Given the description of an element on the screen output the (x, y) to click on. 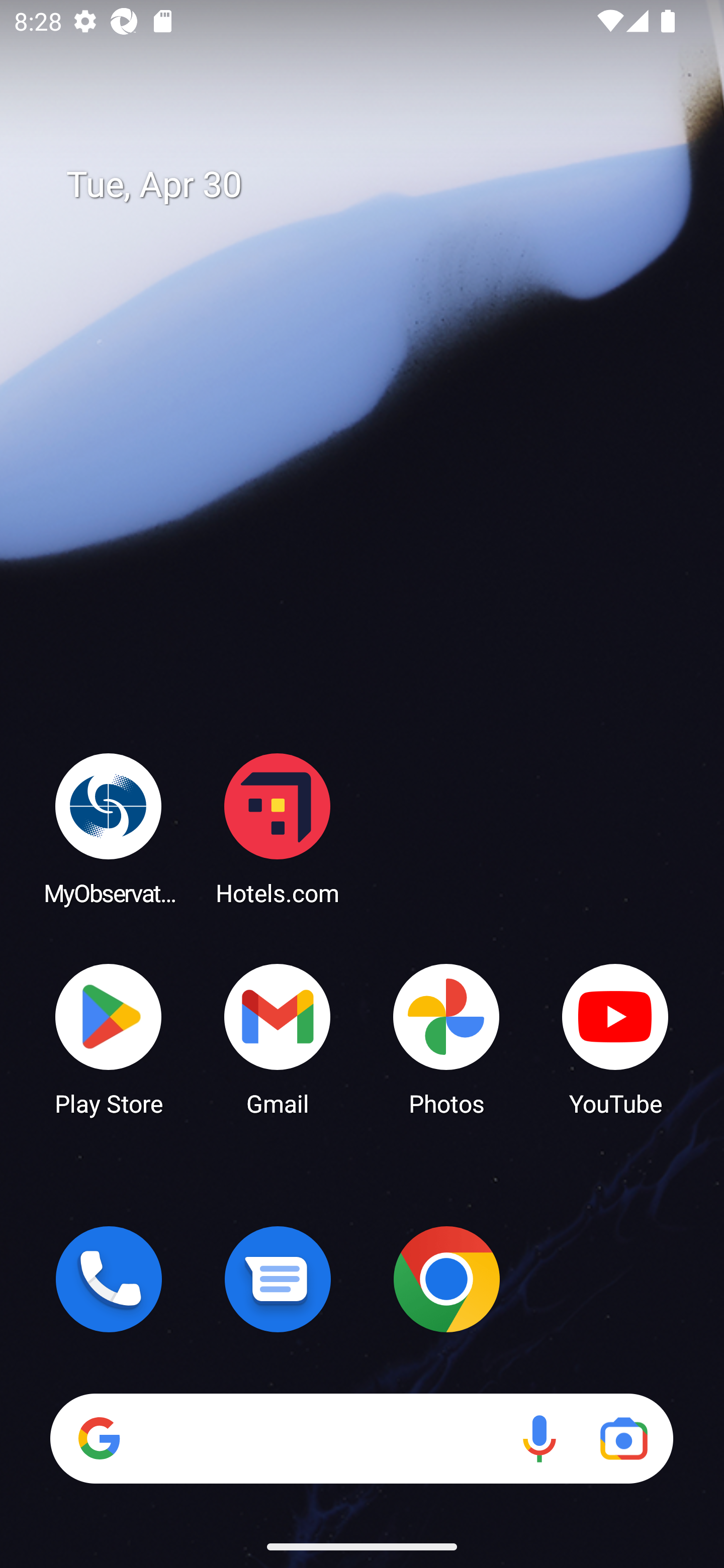
Tue, Apr 30 (375, 184)
MyObservatory (108, 828)
Hotels.com (277, 828)
Play Store (108, 1038)
Gmail (277, 1038)
Photos (445, 1038)
YouTube (615, 1038)
Phone (108, 1279)
Messages (277, 1279)
Chrome (446, 1279)
Voice search (539, 1438)
Google Lens (623, 1438)
